Given the description of an element on the screen output the (x, y) to click on. 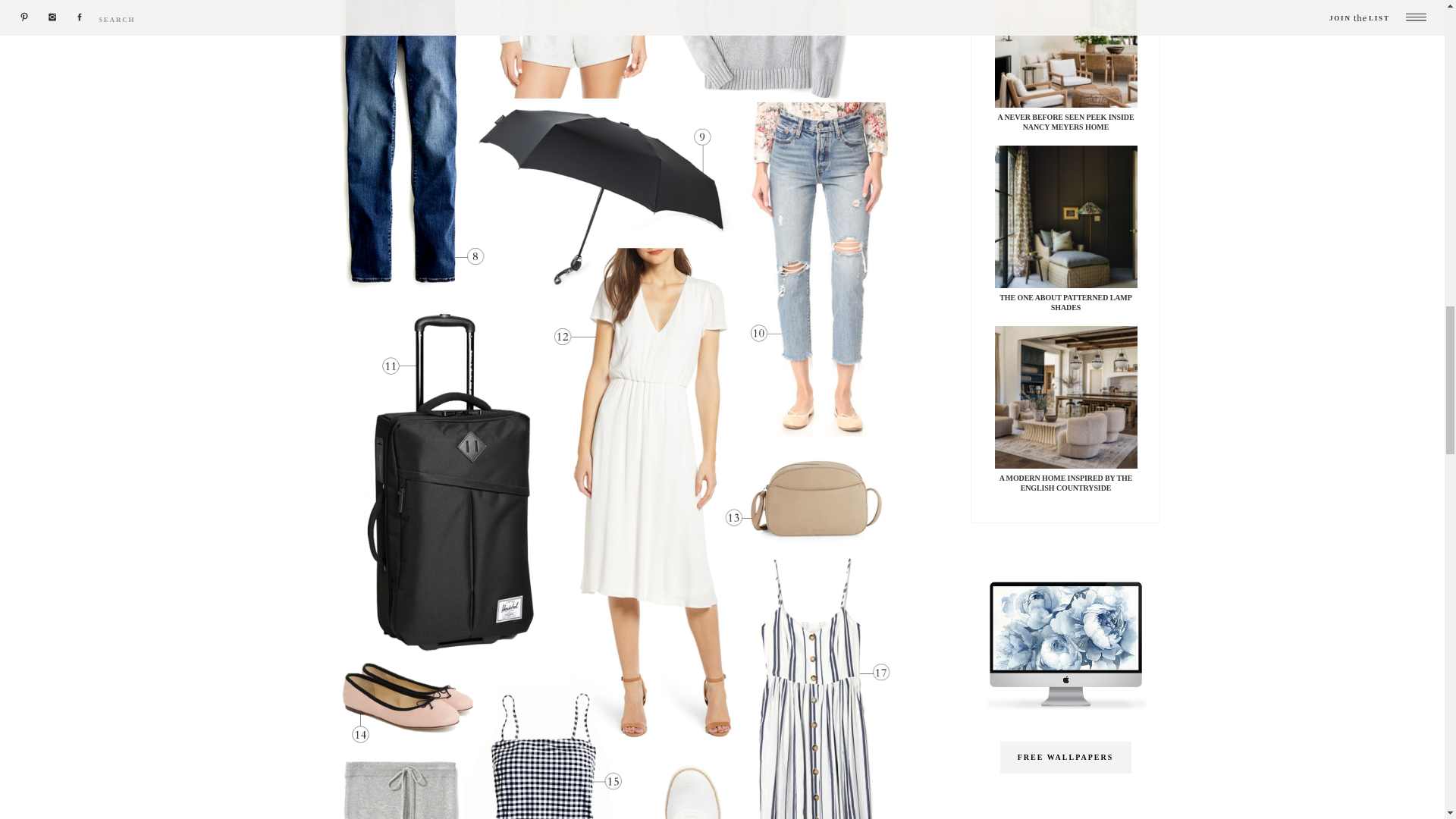
A MODERN HOME INSPIRED BY THE ENGLISH COUNTRYSIDE (1065, 483)
FREE WALLPAPERS (1064, 759)
A NEVER BEFORE SEEN PEEK INSIDE NANCY MEYERS HOME (1065, 122)
THE ONE ABOUT PATTERNED LAMP SHADES (1064, 302)
